Given the description of an element on the screen output the (x, y) to click on. 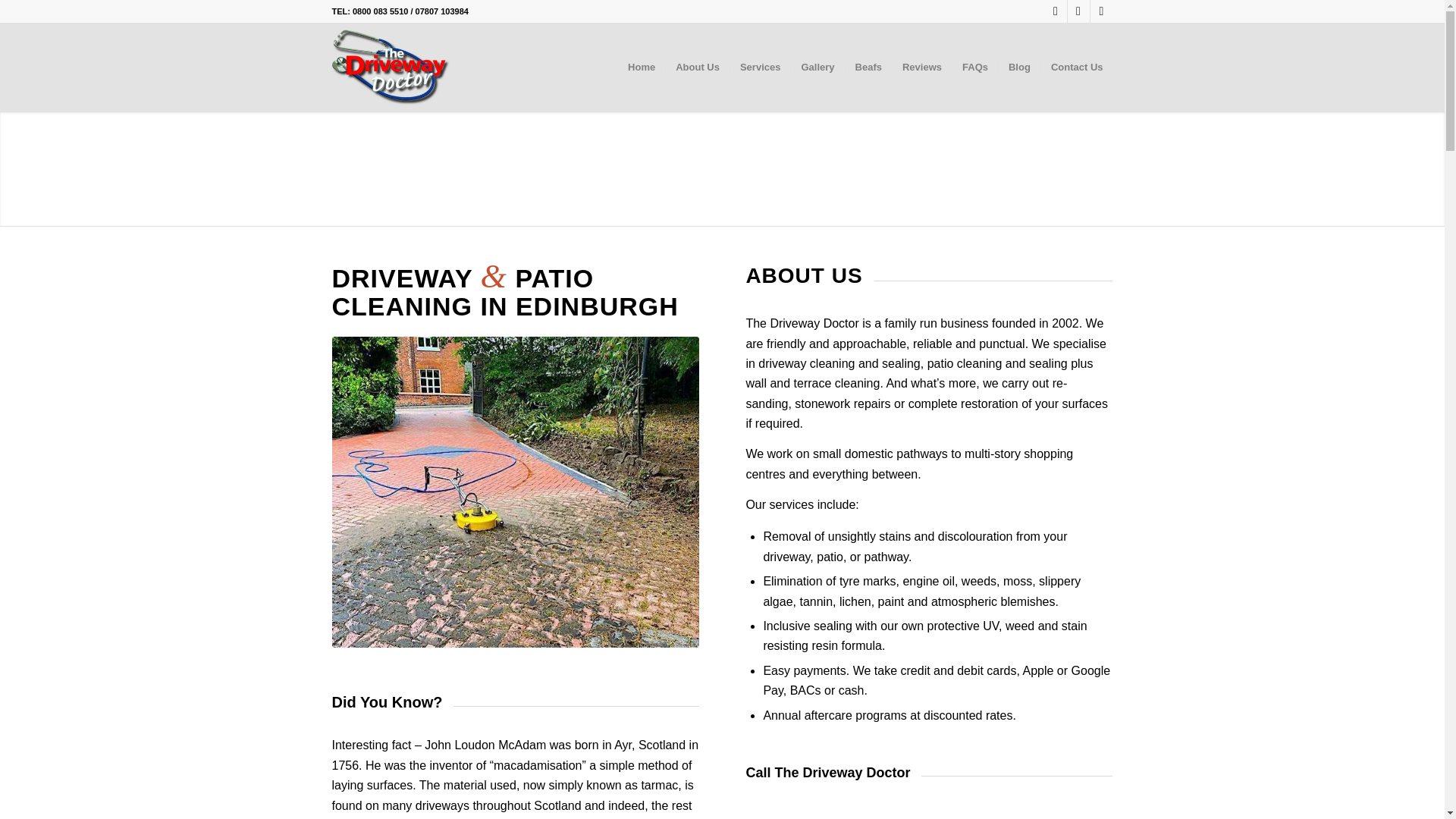
Facebook (1078, 11)
Instagram (1056, 11)
Service-page-driveway (514, 492)
Mail (1101, 11)
